Given the description of an element on the screen output the (x, y) to click on. 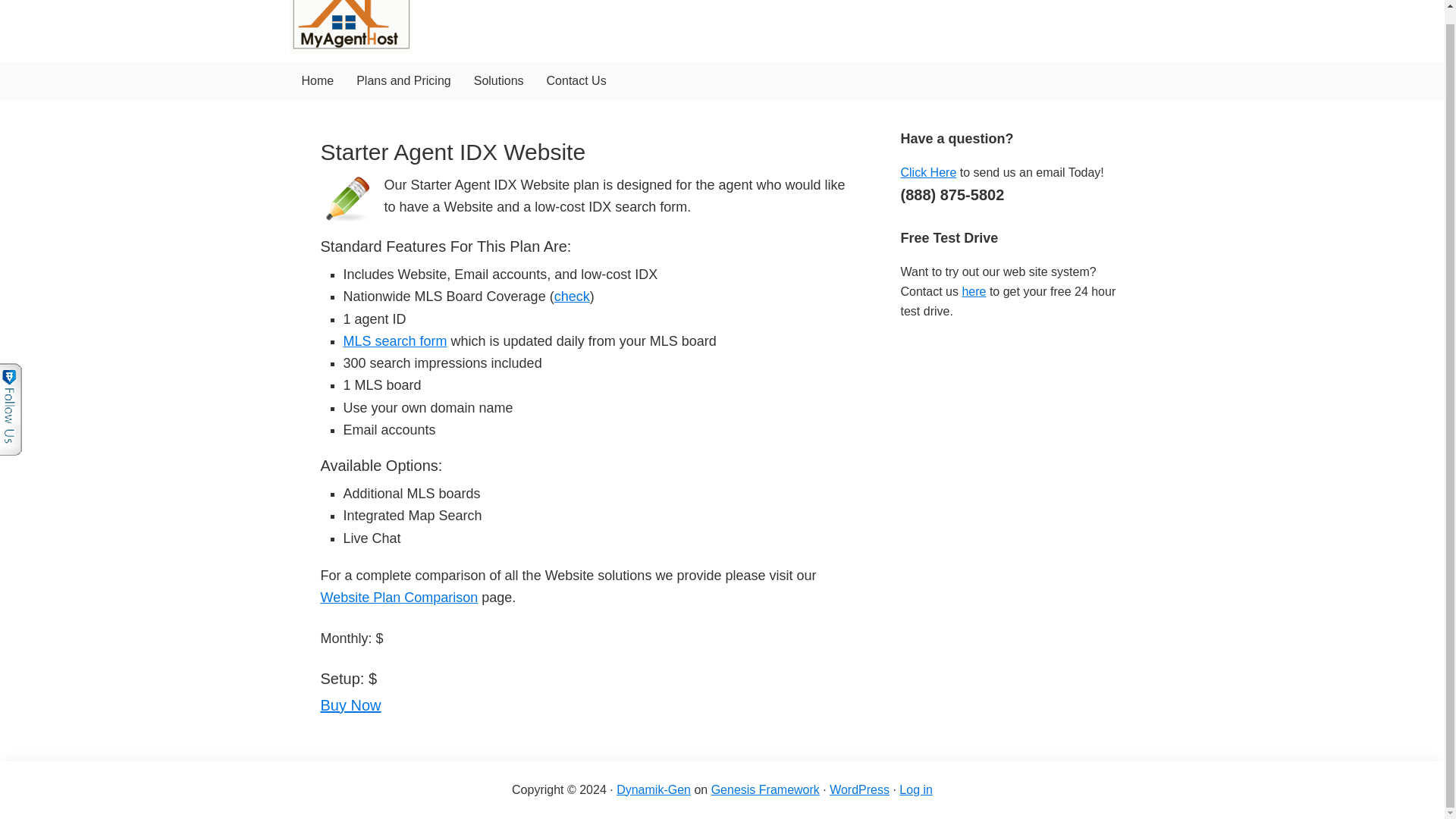
here (972, 291)
MLS Search Form (394, 340)
Solutions (499, 80)
Genesis Framework (765, 788)
WordPress (859, 788)
Website Plan Comparison (398, 597)
Click Here (928, 171)
Home (317, 80)
MLS search form (394, 340)
Log in (916, 788)
